Given the description of an element on the screen output the (x, y) to click on. 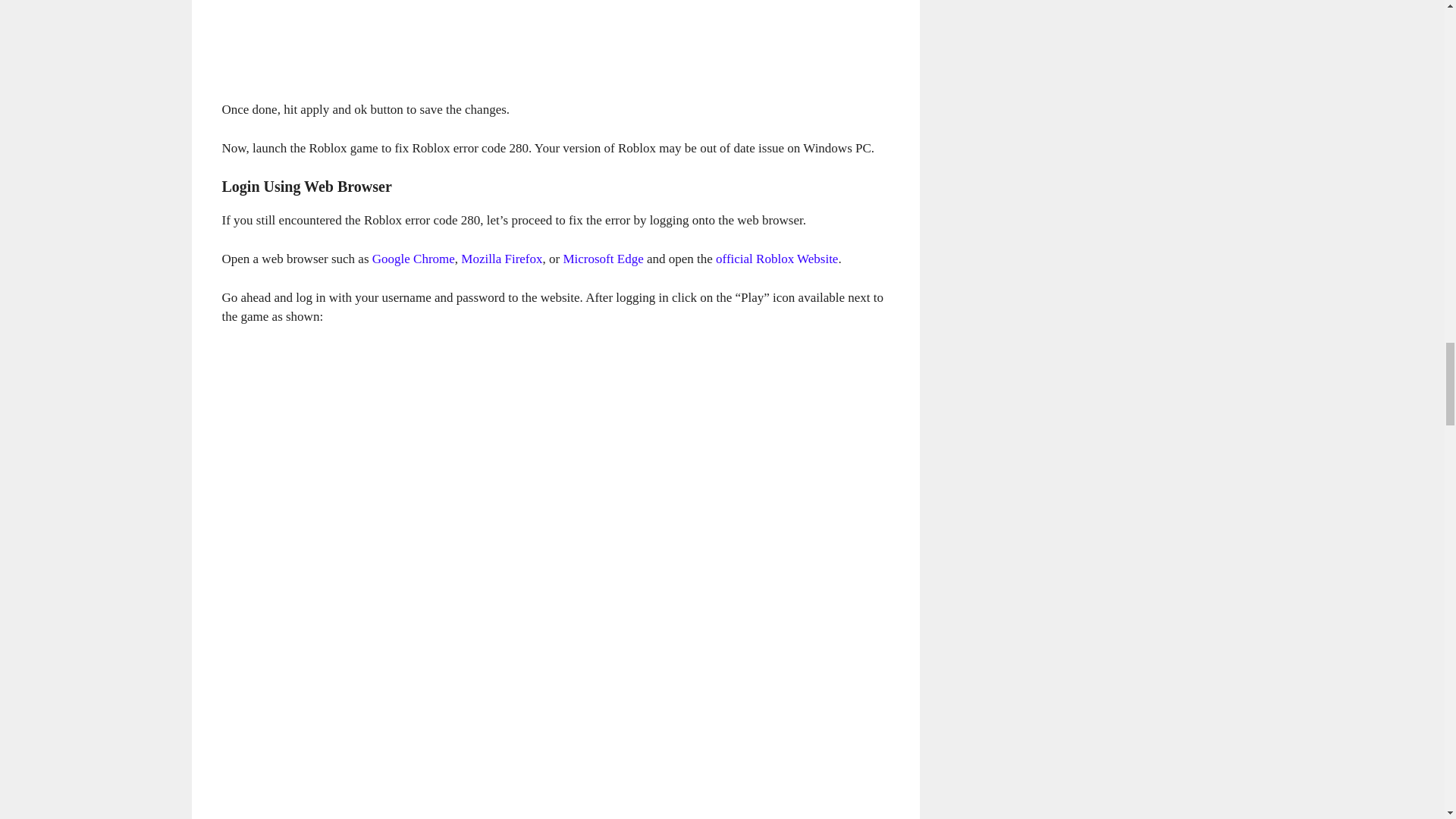
official Roblox Website (777, 258)
Google Chrome (413, 258)
Microsoft Edge (602, 258)
Mozilla Firefox (501, 258)
